Given the description of an element on the screen output the (x, y) to click on. 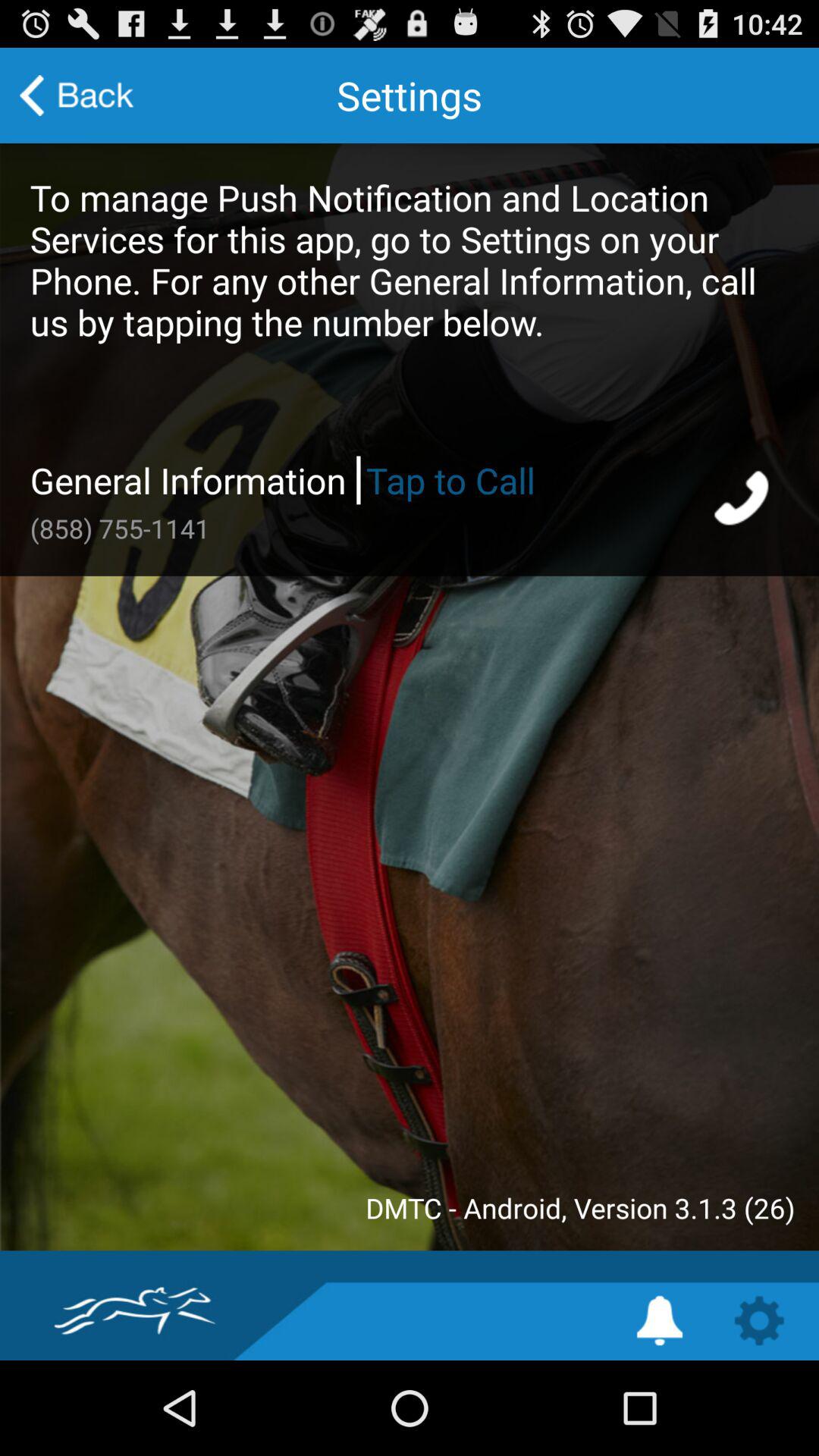
start phone call (743, 501)
